Given the description of an element on the screen output the (x, y) to click on. 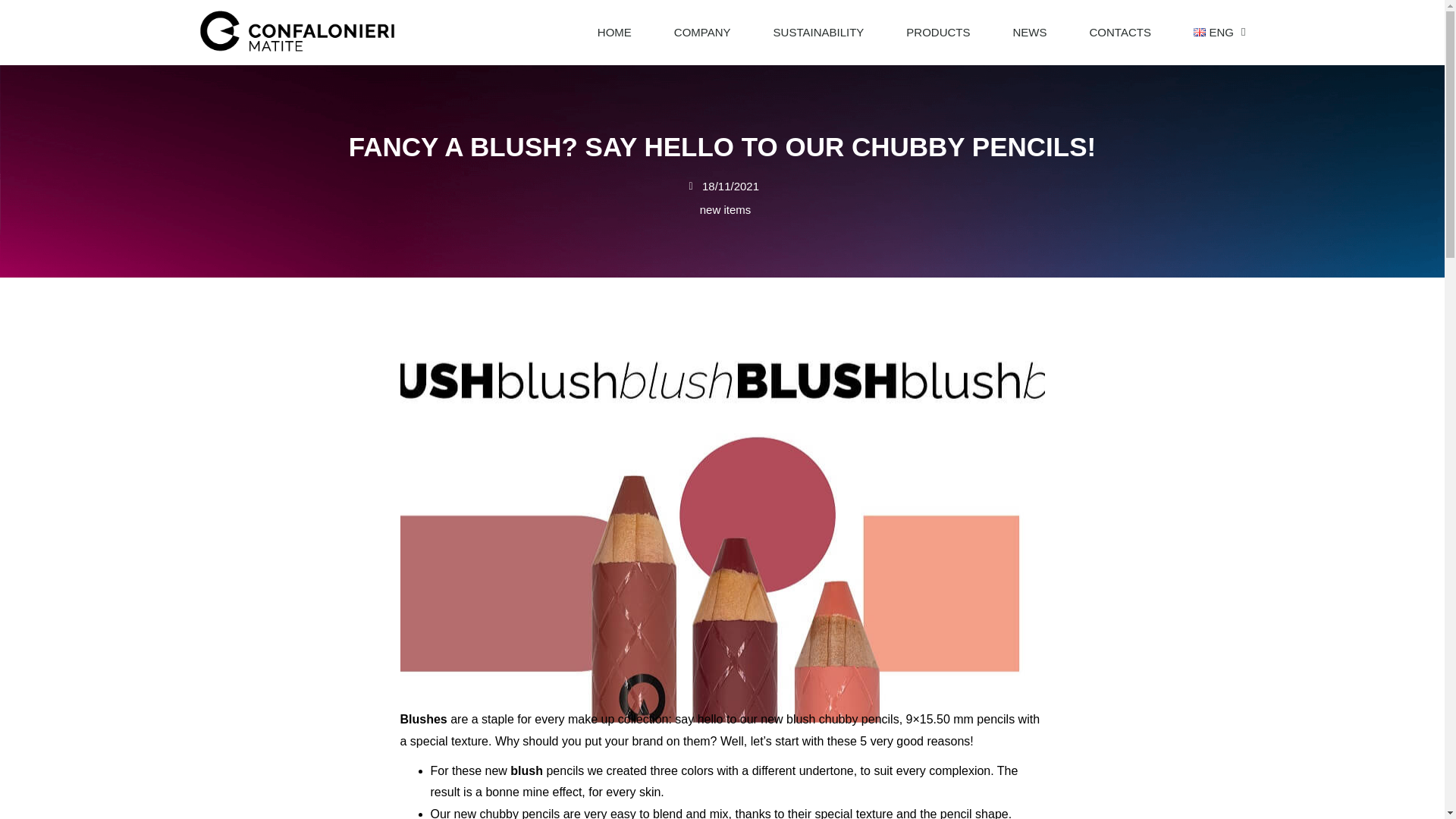
PRODUCTS (938, 31)
COMPANY (702, 31)
CONTACTS (1119, 31)
new items (725, 209)
SUSTAINABILITY (818, 31)
NEWS (1029, 31)
ENG (1213, 31)
HOME (614, 31)
